Given the description of an element on the screen output the (x, y) to click on. 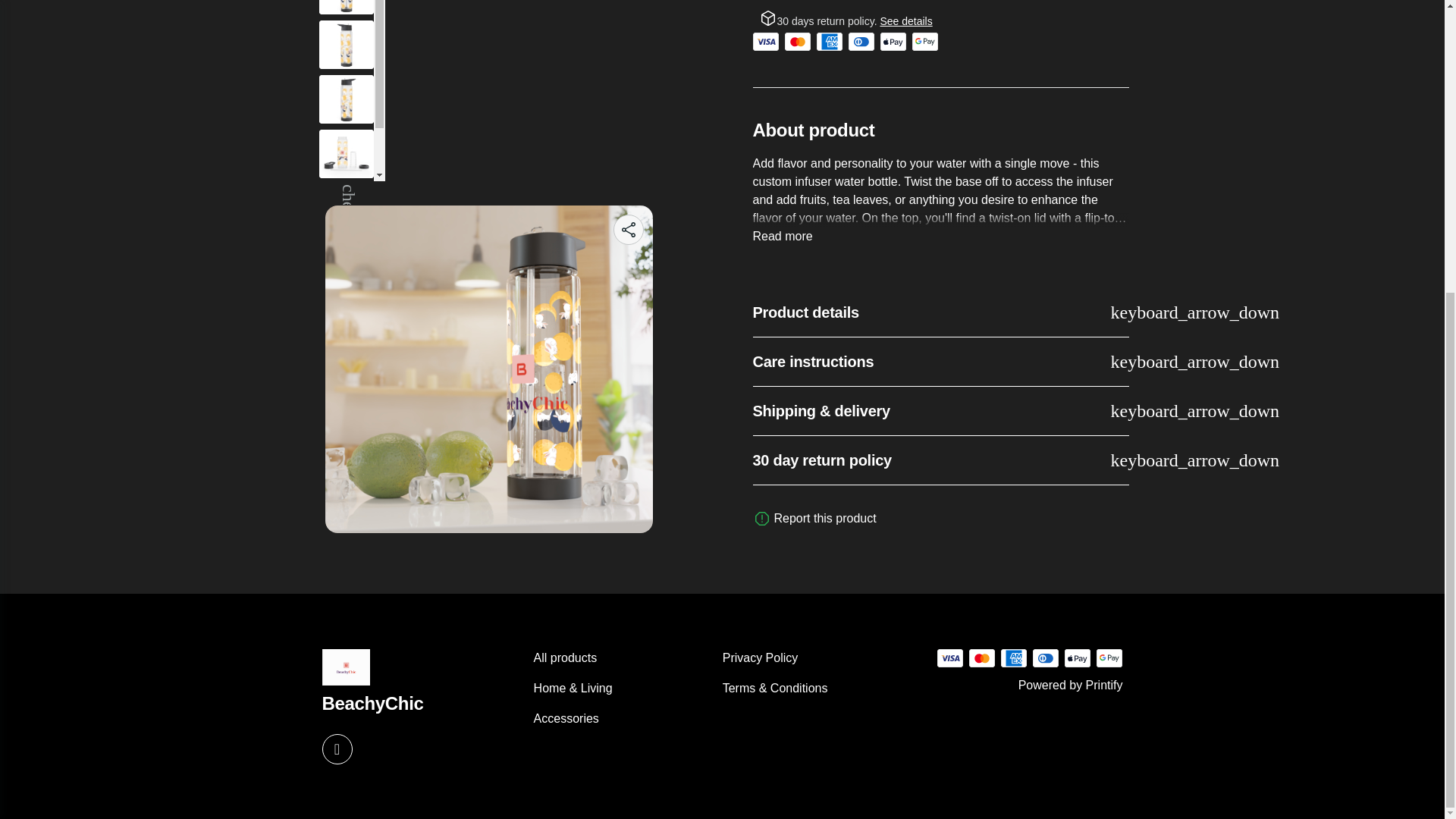
30 day return policy (940, 460)
See details (905, 20)
Care instructions (940, 361)
Infuser Water Bottle product main image (488, 148)
Product details (940, 312)
About product (940, 187)
